Given the description of an element on the screen output the (x, y) to click on. 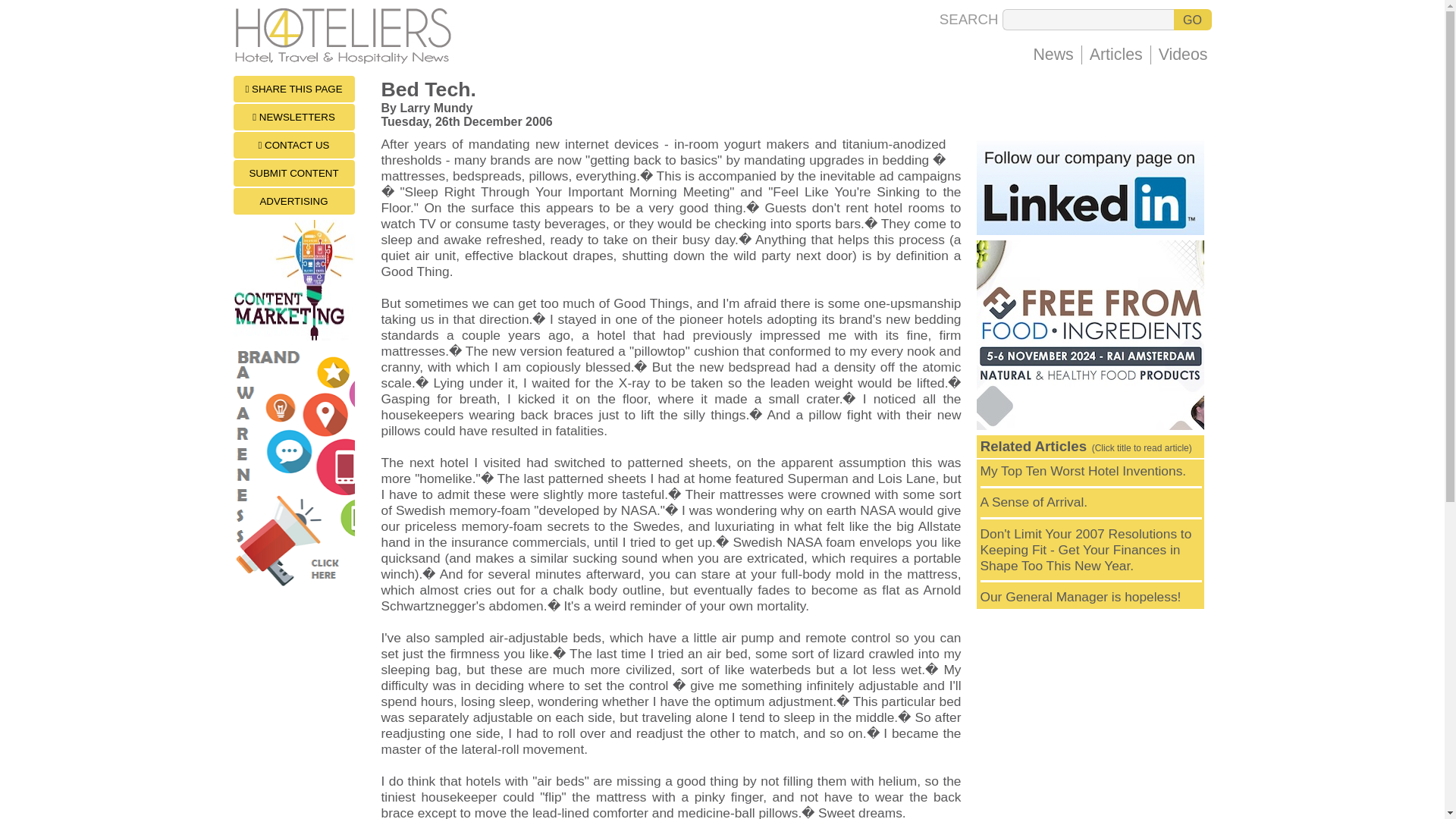
Our General Manager is hopeless! (1079, 596)
Click to read article (1085, 549)
GO (1192, 19)
4Hoteliers Home Page (345, 60)
Click to read article (1079, 596)
My Top Ten Worst Hotel Inventions. (1082, 470)
Click to read article (1082, 470)
A Sense of Arrival. (1033, 501)
Articles (1115, 54)
Click to read article (1033, 501)
GO (1192, 19)
GO (1192, 19)
Advertisement (1090, 714)
News (1052, 54)
